Given the description of an element on the screen output the (x, y) to click on. 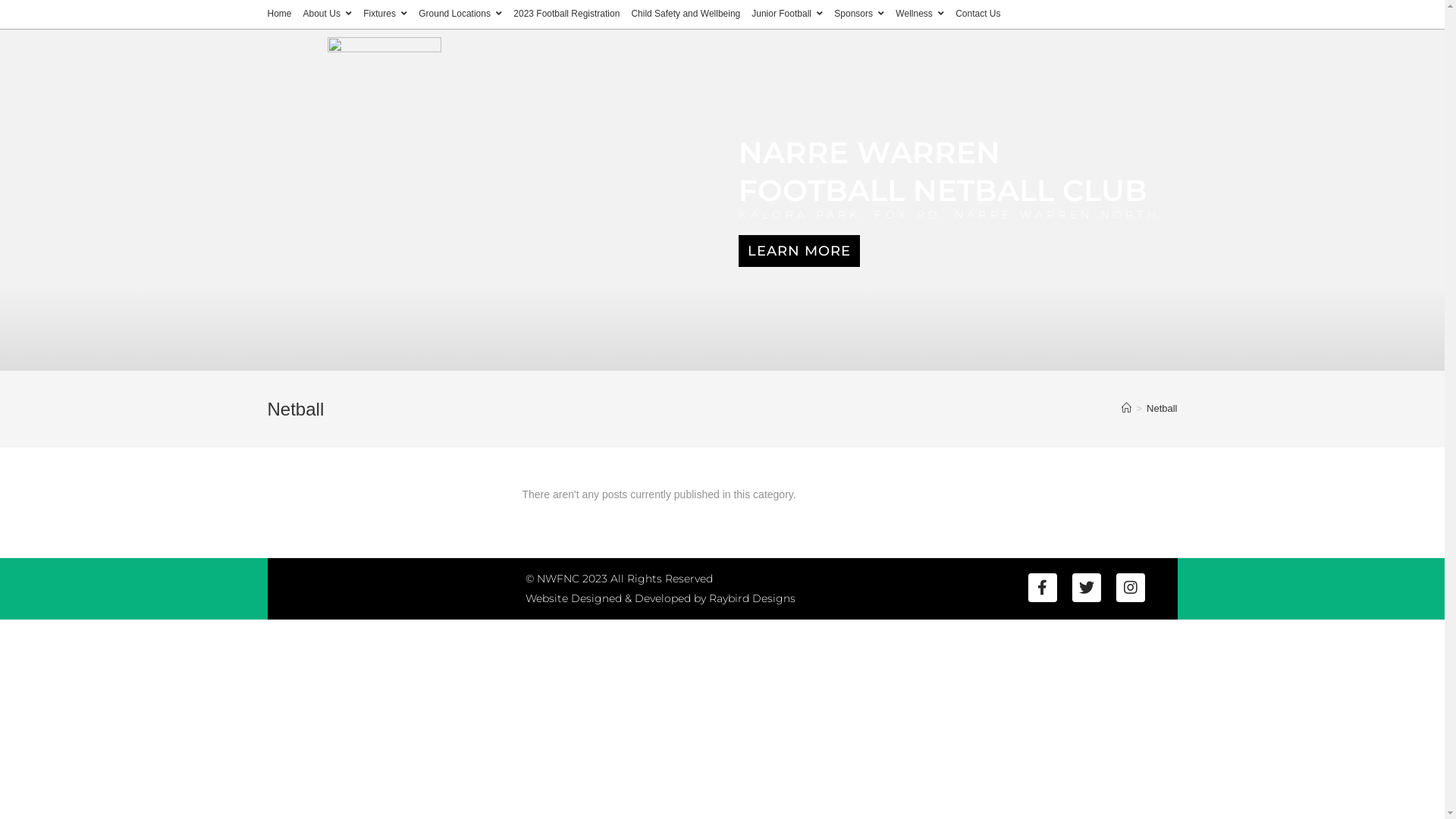
Contact Us Element type: text (977, 14)
Ground Locations Element type: text (460, 14)
Wellness Element type: text (919, 14)
Netball Element type: text (1161, 408)
Sponsors Element type: text (859, 14)
LEARN MORE Element type: text (798, 250)
Junior Football Element type: text (786, 14)
2023 Football Registration Element type: text (566, 14)
Home Element type: text (278, 14)
Raybird Designs Element type: text (751, 598)
About Us Element type: text (327, 14)
Fixtures Element type: text (385, 14)
Child Safety and Wellbeing Element type: text (685, 14)
